Given the description of an element on the screen output the (x, y) to click on. 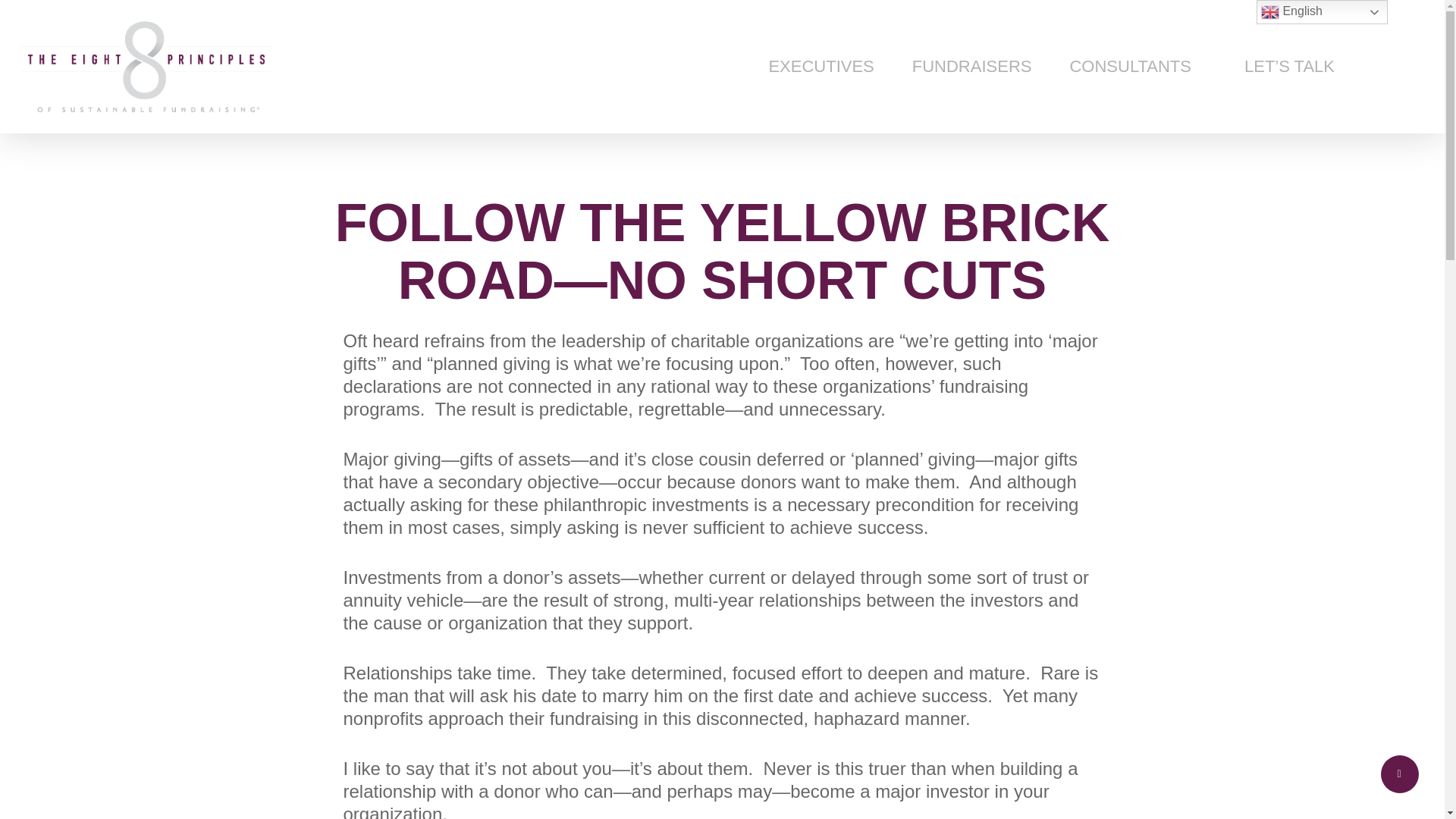
FUNDRAISERS (972, 66)
English (1321, 12)
CONSULTANTS (1129, 66)
EXECUTIVES (820, 66)
